Given the description of an element on the screen output the (x, y) to click on. 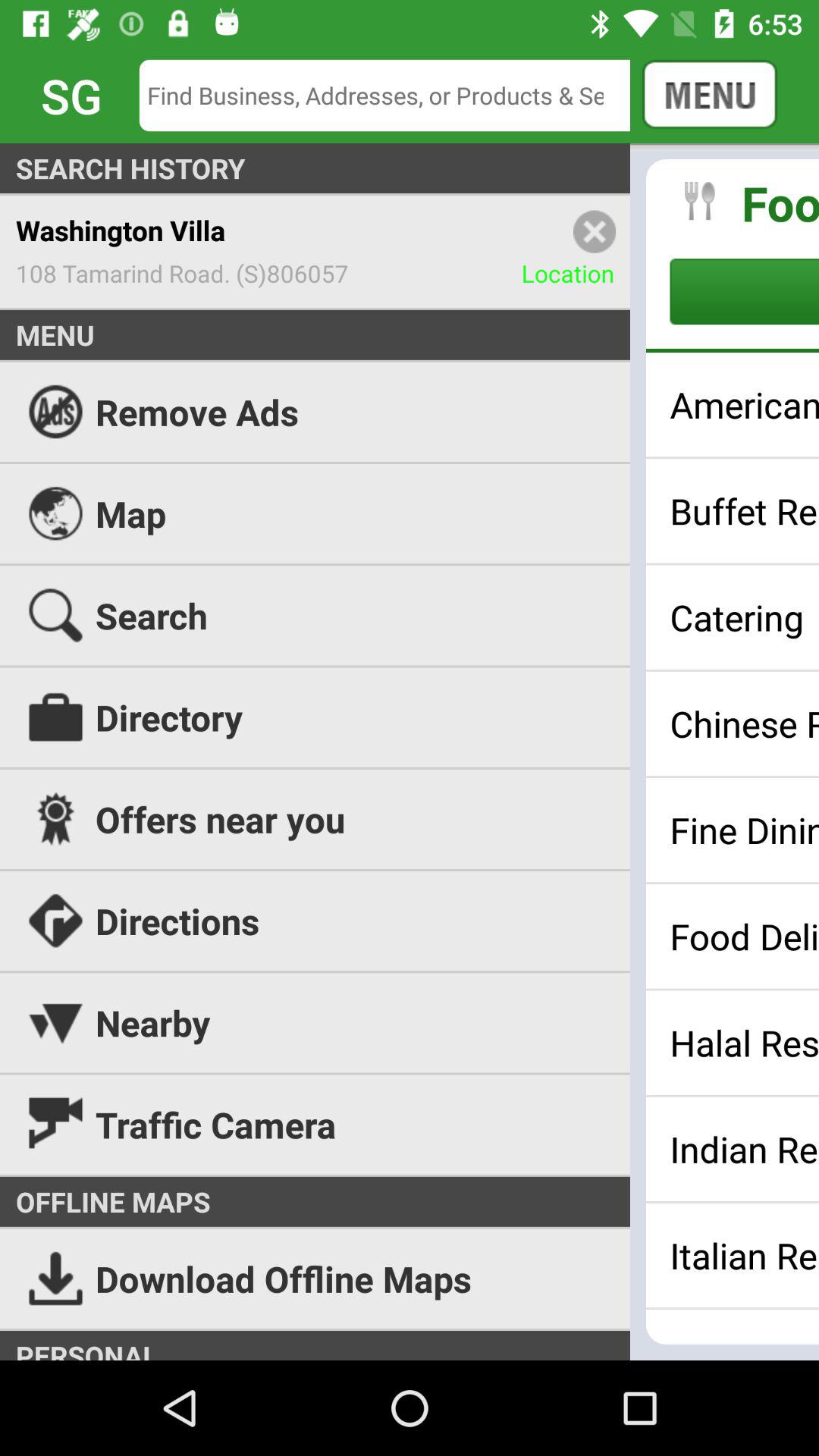
flip to the halal restaurants item (744, 1042)
